Given the description of an element on the screen output the (x, y) to click on. 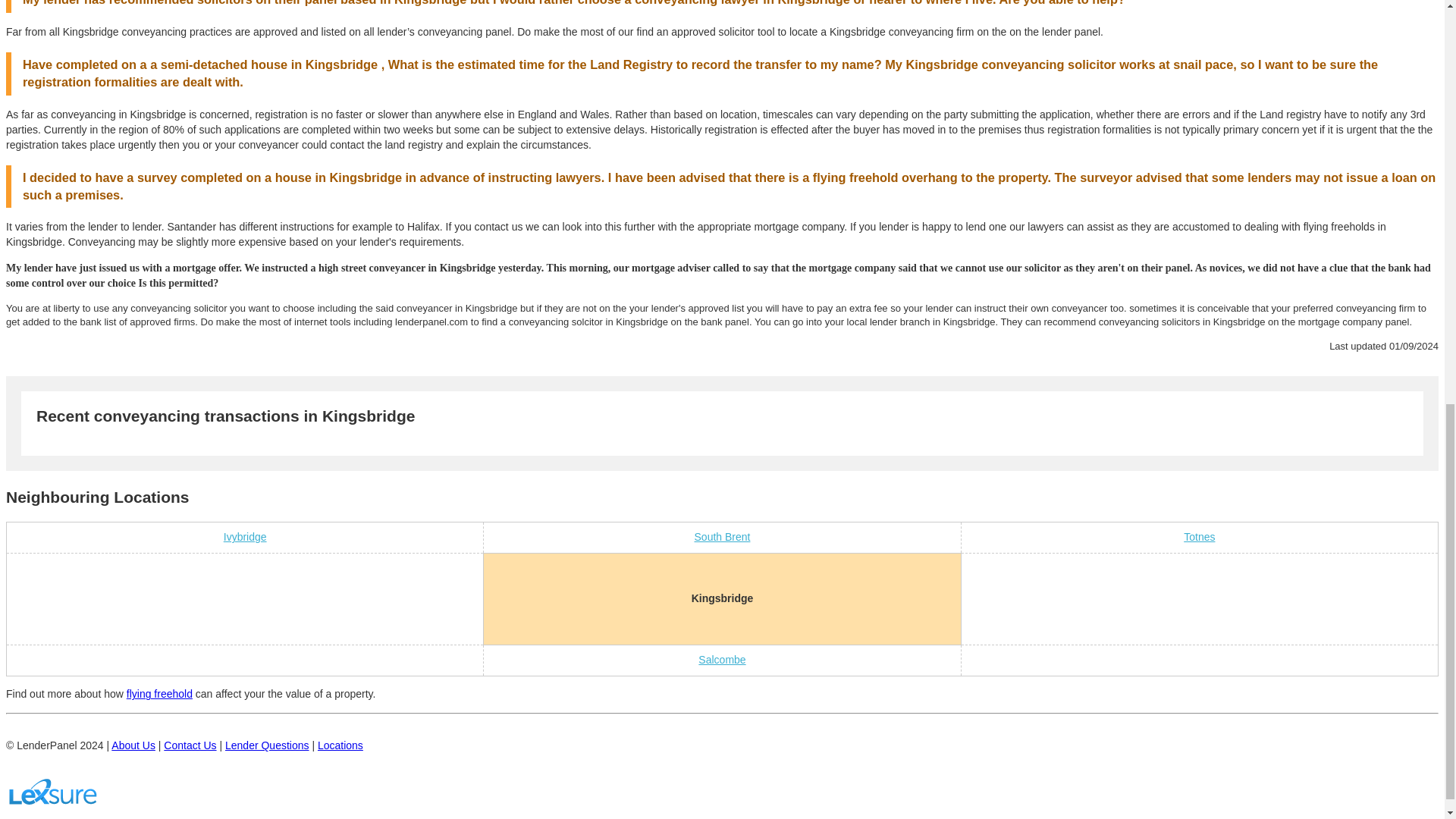
flying freehold (159, 693)
South Brent (722, 536)
Totnes (1198, 536)
Salcombe (721, 659)
Contact Us (189, 745)
Locations (339, 745)
About Us (133, 745)
Lender Questions (266, 745)
Ivybridge (245, 536)
